Given the description of an element on the screen output the (x, y) to click on. 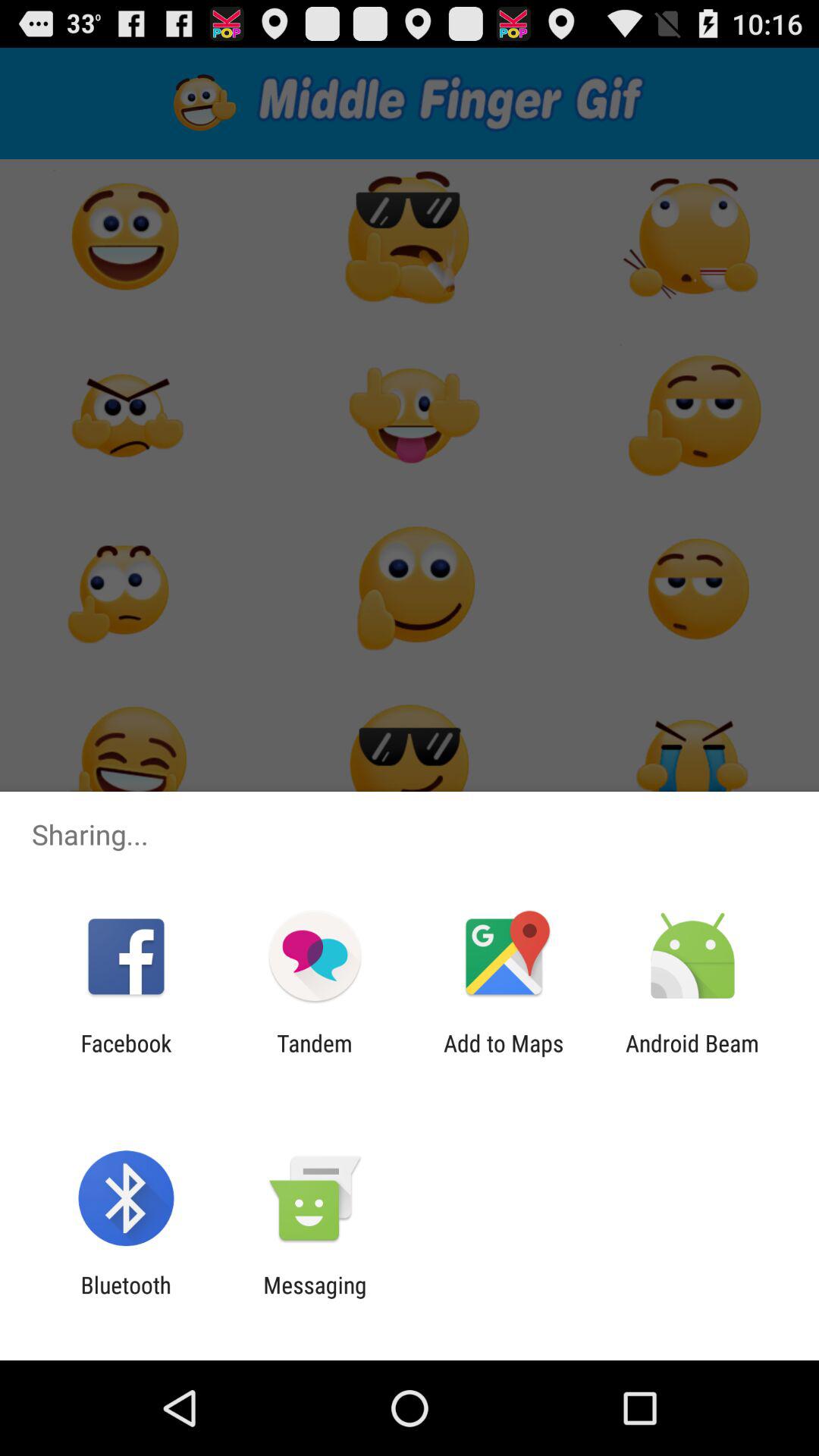
turn on the android beam (692, 1056)
